Given the description of an element on the screen output the (x, y) to click on. 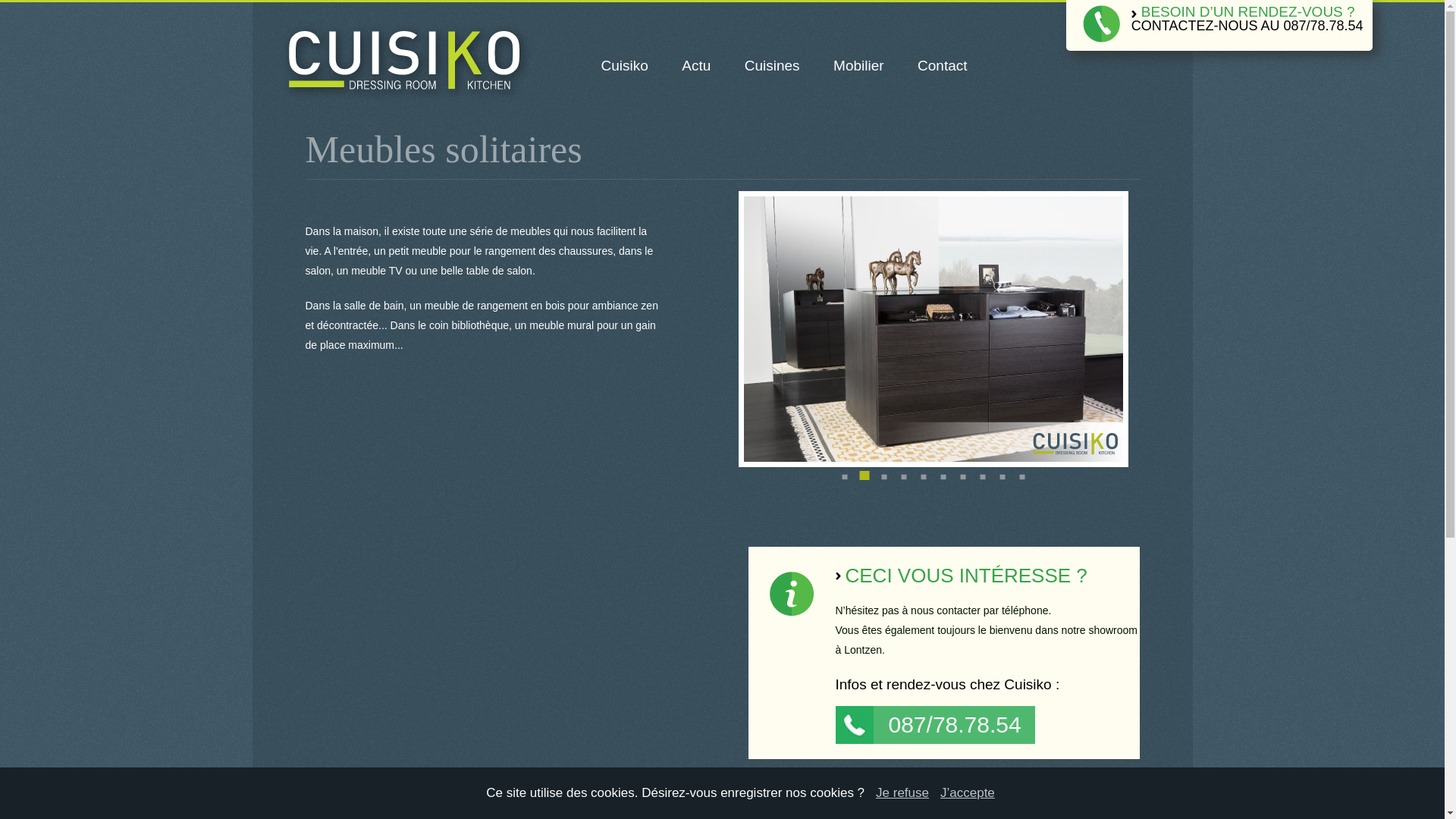
Cuisiko Element type: text (623, 65)
1 Element type: text (843, 477)
7 Element type: text (961, 477)
4 Element type: text (902, 477)
9 Element type: text (1001, 477)
3 Element type: text (883, 477)
Actu Element type: text (695, 65)
Cuisines Element type: text (772, 65)
10 Element type: text (1021, 477)
Je refuse Element type: text (901, 792)
6 Element type: text (942, 477)
2 Element type: text (863, 477)
Contact Element type: text (942, 65)
5 Element type: text (922, 477)
8 Element type: text (981, 477)
Mobilier Element type: text (858, 65)
